Given the description of an element on the screen output the (x, y) to click on. 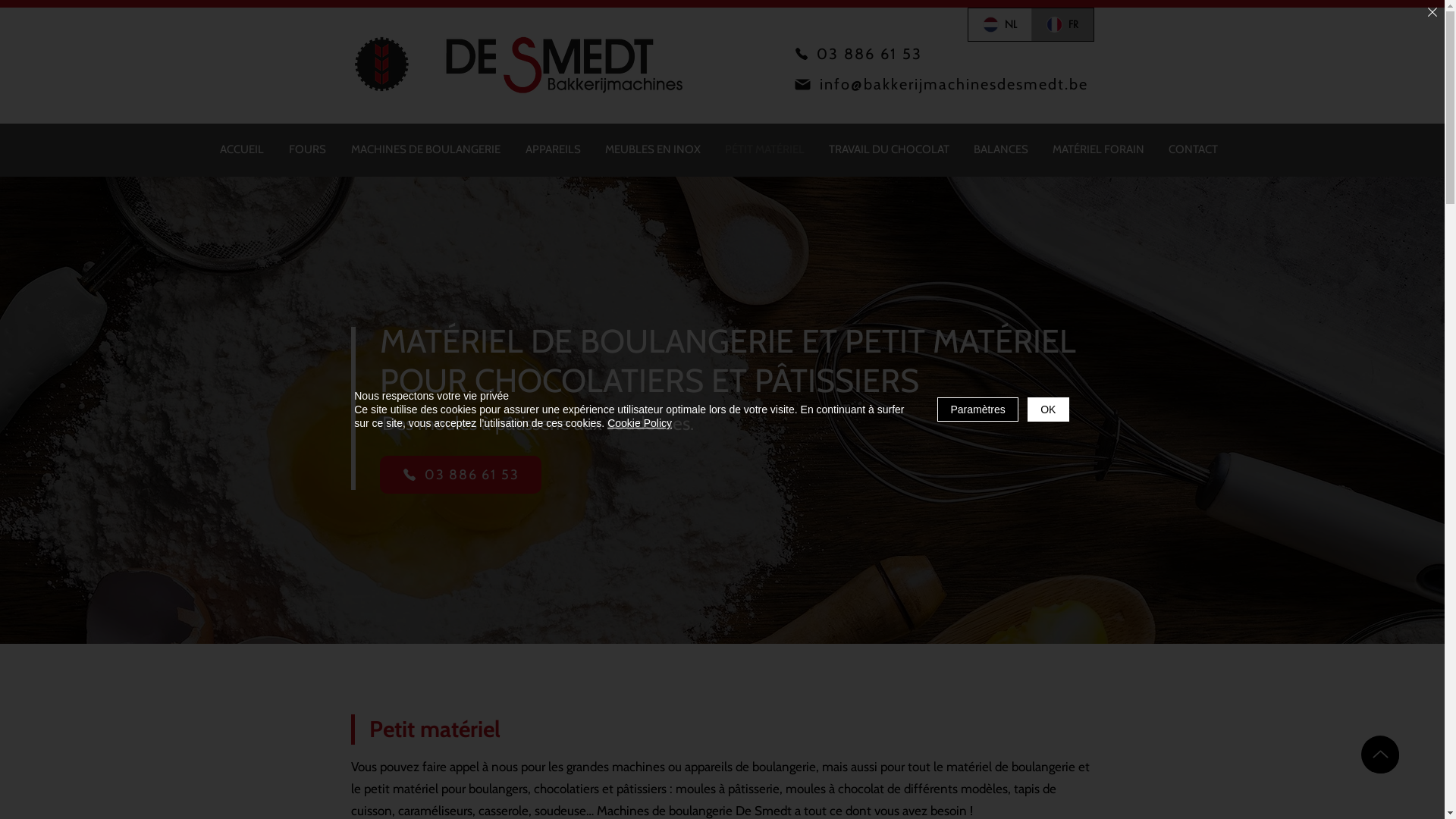
OK Element type: text (1048, 409)
ACCUEIL Element type: text (241, 149)
03 886 61 53 Element type: text (857, 53)
CONTACT Element type: text (1192, 149)
Cookie Policy Element type: text (639, 423)
FOURS Element type: text (307, 149)
MEUBLES EN INOX Element type: text (652, 149)
MACHINES DE BOULANGERIE Element type: text (425, 149)
BALANCES Element type: text (1000, 149)
03 886 61 53 Element type: text (459, 474)
APPAREILS Element type: text (552, 149)
TRAVAIL DU CHOCOLAT Element type: text (887, 149)
info@bakkerijmachinesdesmedt.be Element type: text (939, 84)
